Given the description of an element on the screen output the (x, y) to click on. 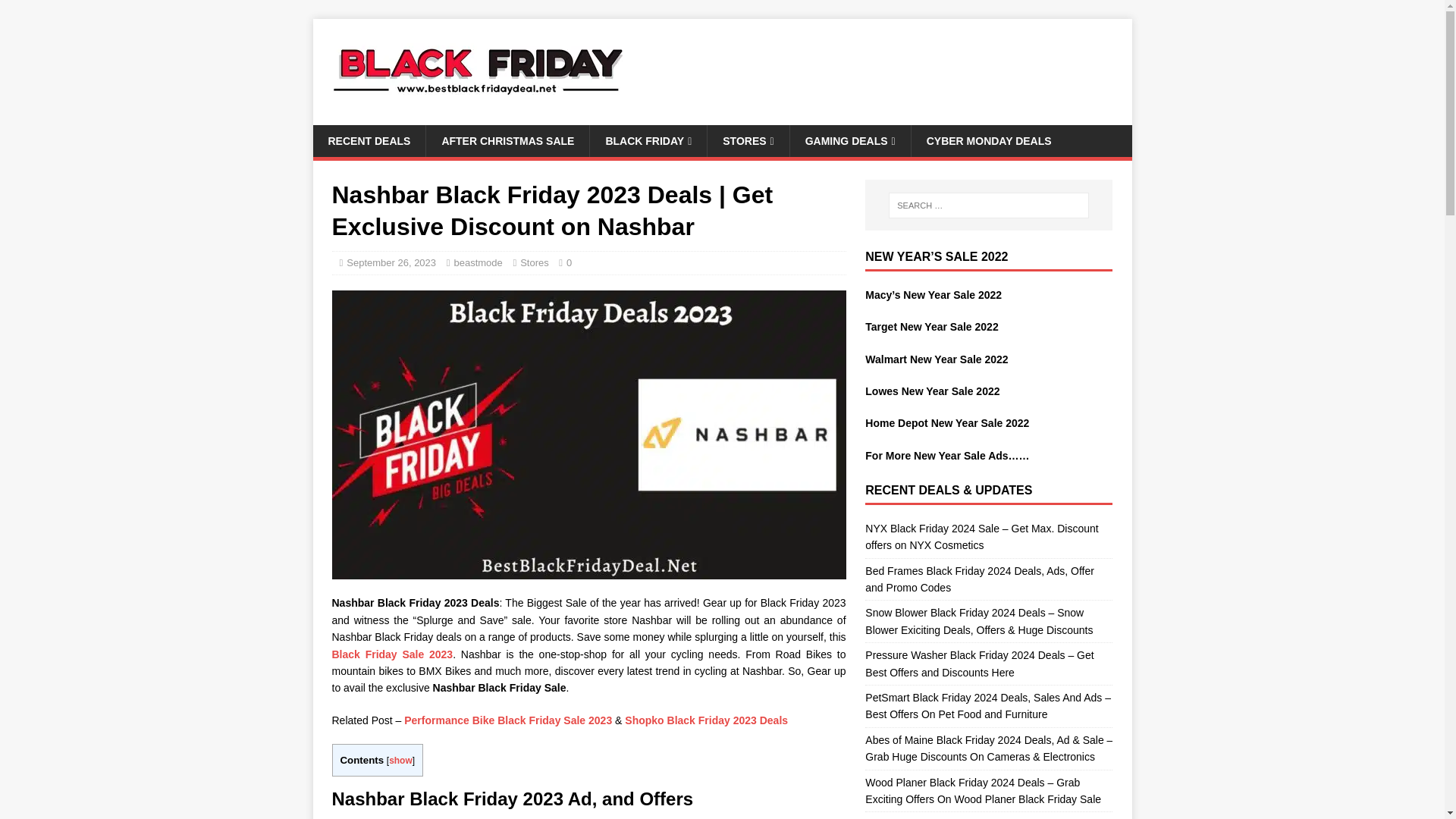
RECENT DEALS (369, 141)
AFTER CHRISTMAS SALE (507, 141)
GAMING DEALS (850, 141)
Nashbar Black Friday Deals (588, 571)
STORES (747, 141)
BLACK FRIDAY (647, 141)
